Given the description of an element on the screen output the (x, y) to click on. 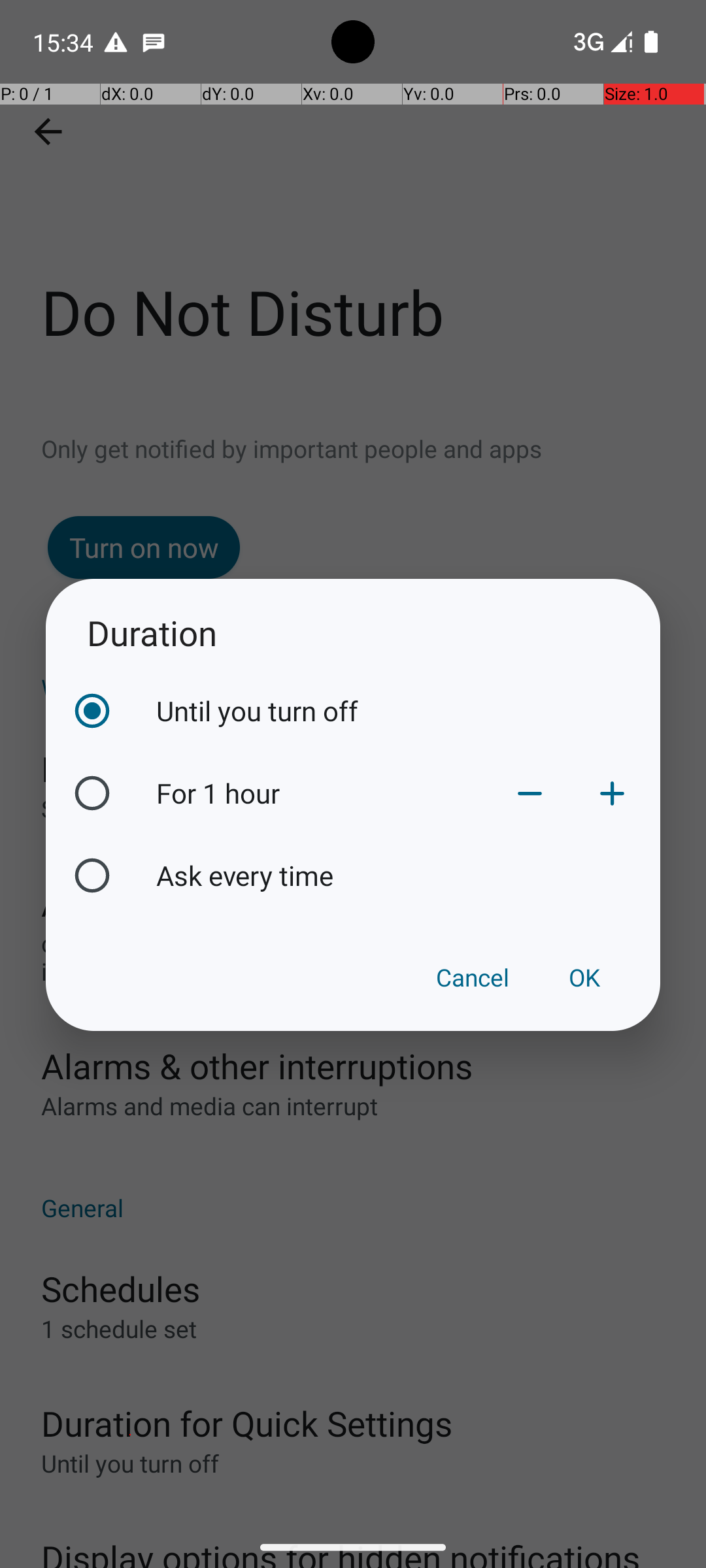
Duration Element type: android.widget.TextView (352, 632)
Less time. Element type: android.widget.ImageView (529, 792)
More time. Element type: android.widget.ImageView (611, 792)
Until you turn off Element type: android.widget.TextView (404, 710)
For 1 hour Element type: android.widget.TextView (322, 792)
Ask every time Element type: android.widget.TextView (404, 874)
